Given the description of an element on the screen output the (x, y) to click on. 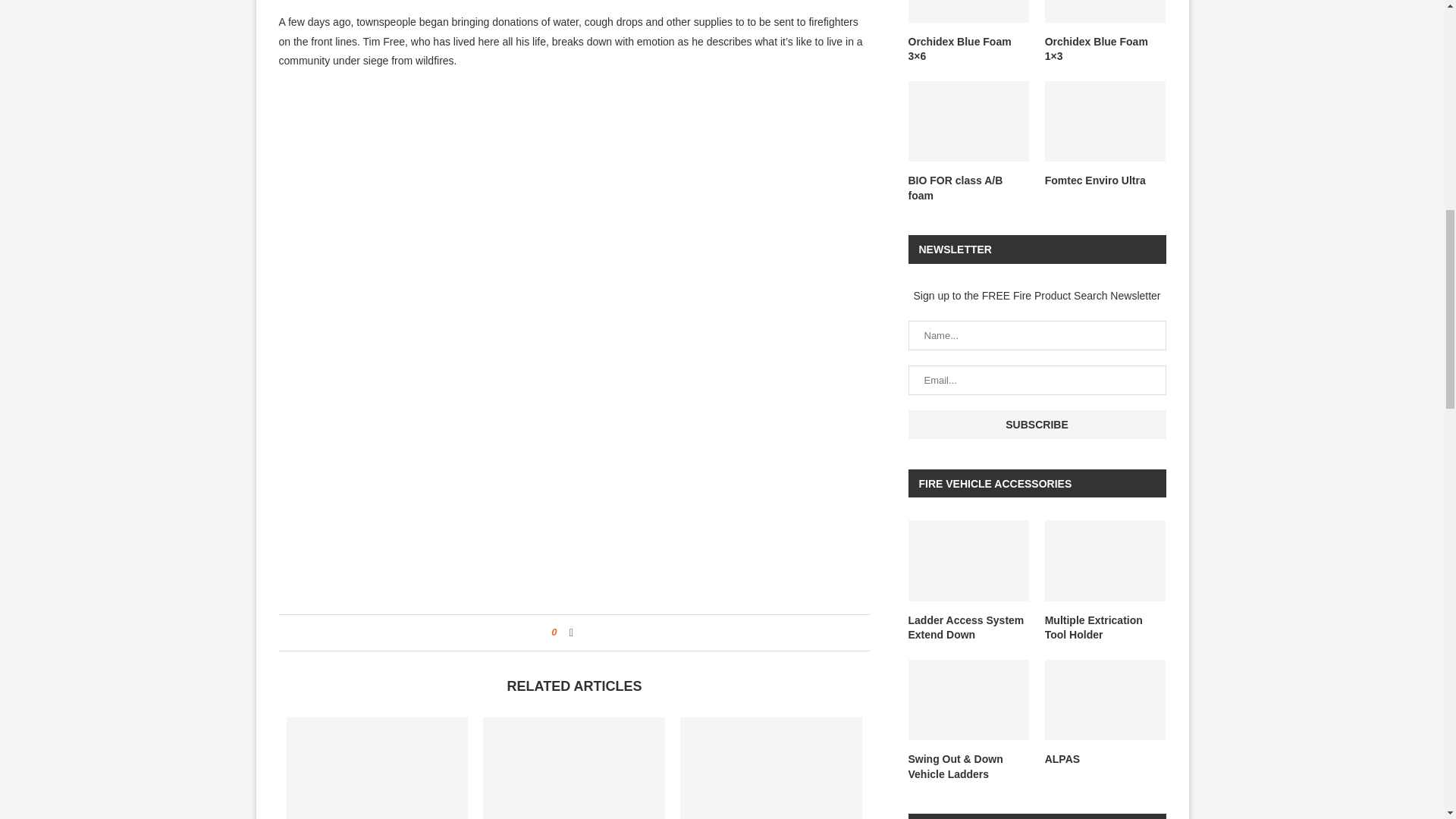
Subscribe (1037, 424)
Transition to SFFF for Airports Applications (377, 768)
